Given the description of an element on the screen output the (x, y) to click on. 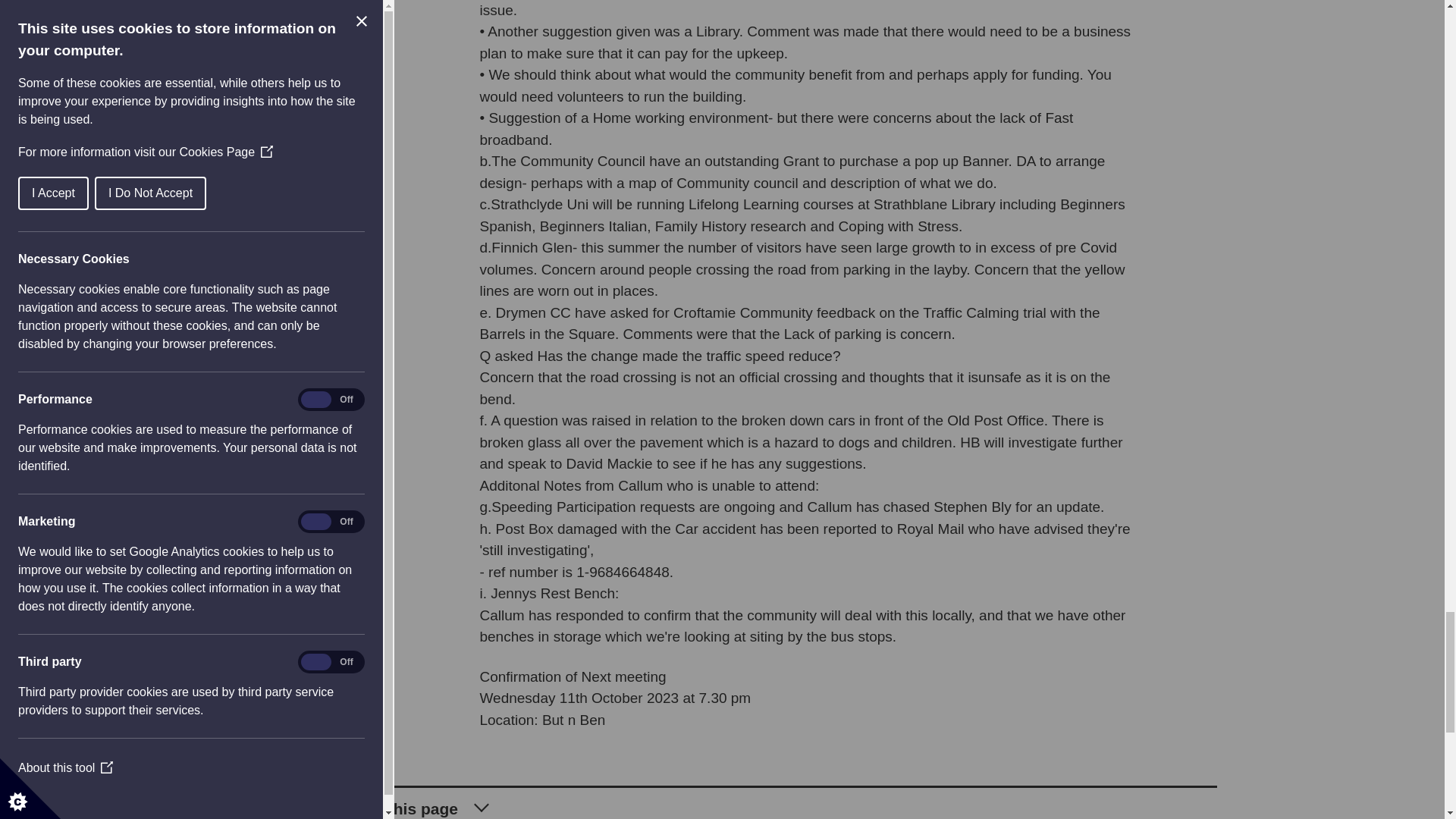
Give feedback about this page (721, 802)
